Given the description of an element on the screen output the (x, y) to click on. 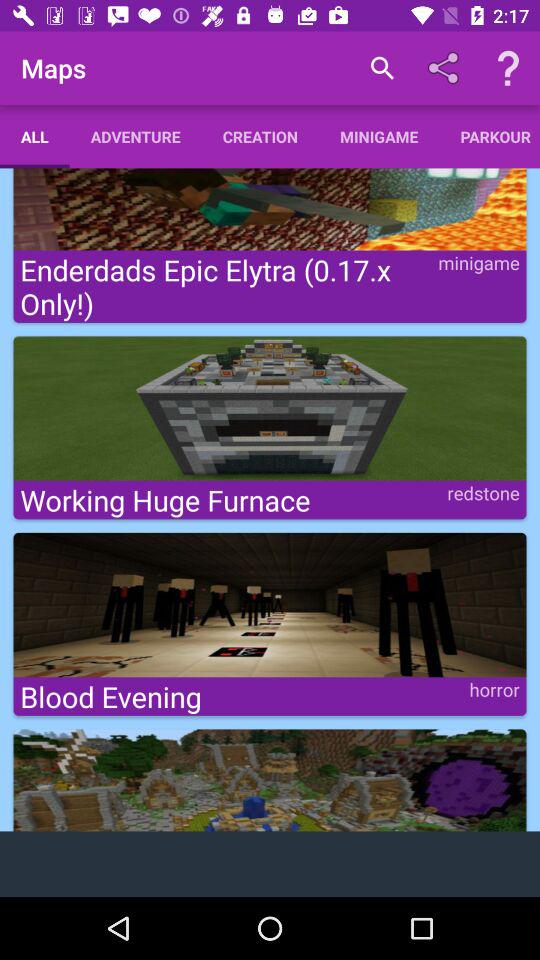
select the app next to the creation (135, 136)
